Given the description of an element on the screen output the (x, y) to click on. 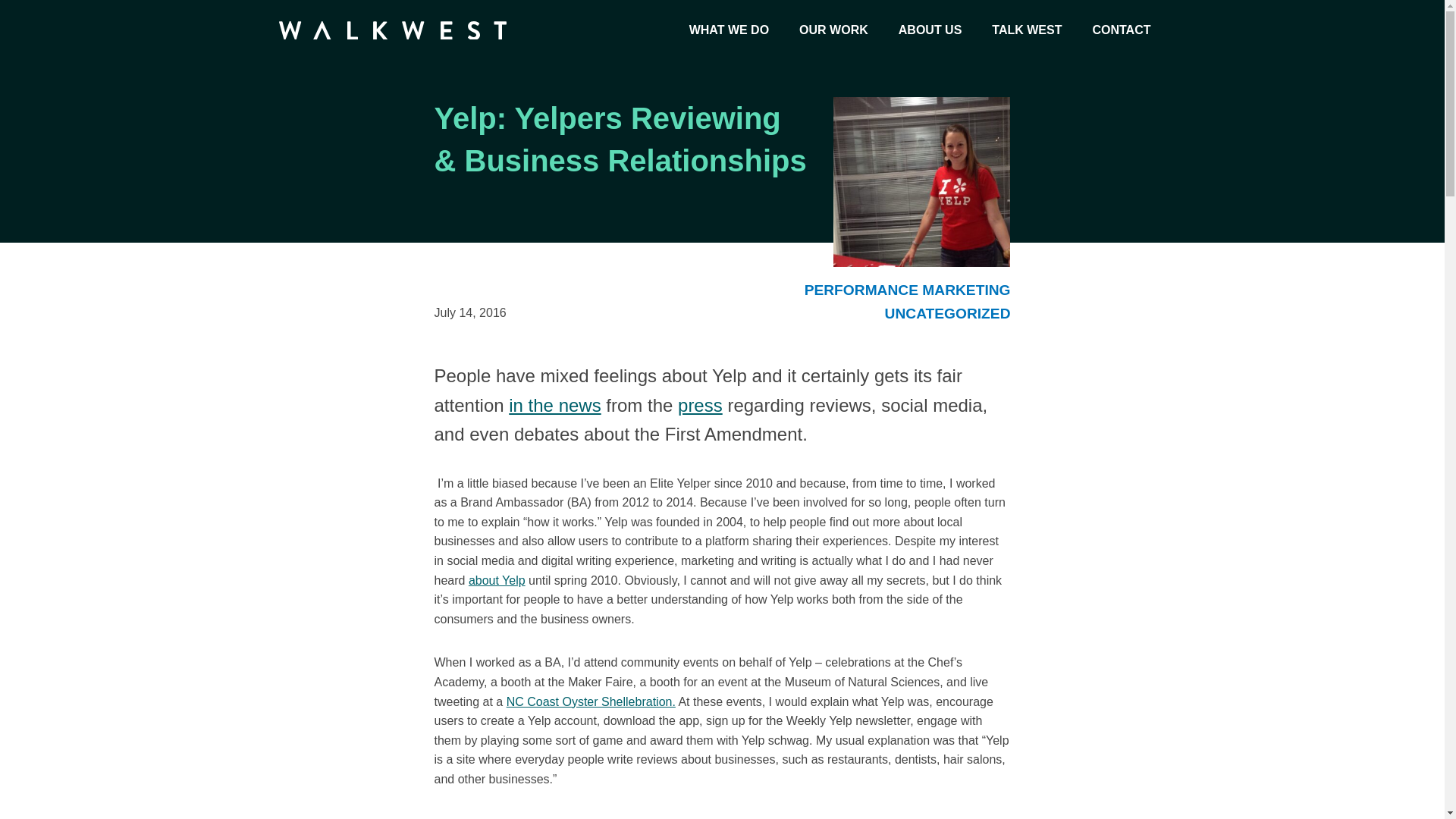
WHAT WE DO (729, 30)
UNCATEGORIZED (947, 313)
CONTACT (1121, 30)
Walk West (392, 30)
about Yelp (496, 580)
SKIP TO MAIN CONTENT (7, 3)
PERFORMANCE MARKETING (907, 289)
press (700, 404)
Uncategorized (947, 313)
